Given the description of an element on the screen output the (x, y) to click on. 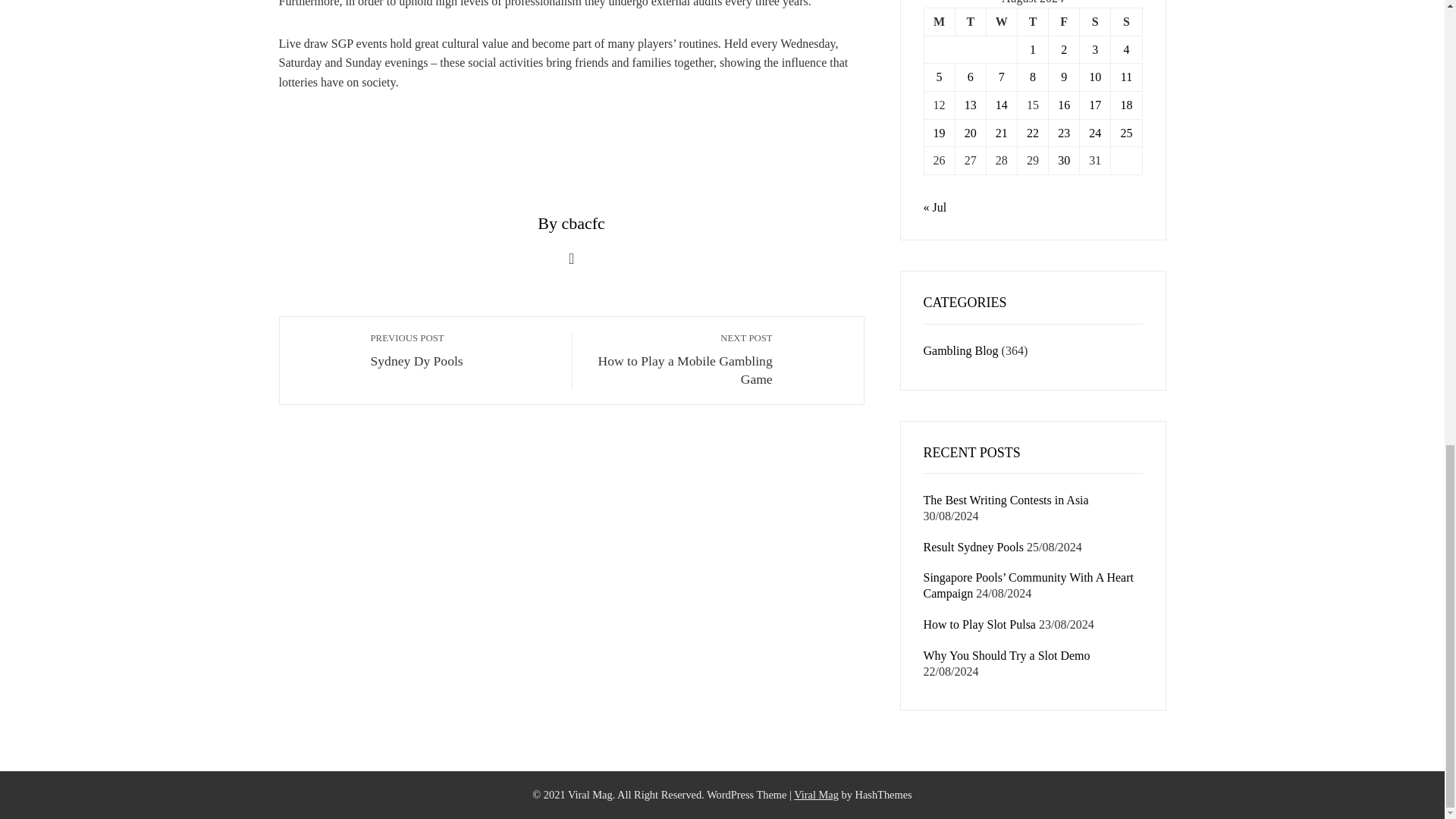
Saturday (1095, 22)
Thursday (1032, 22)
Monday (680, 359)
Download Viral News (939, 22)
Tuesday (815, 794)
Friday (970, 22)
Wednesday (1064, 22)
Sunday (1000, 22)
